Given the description of an element on the screen output the (x, y) to click on. 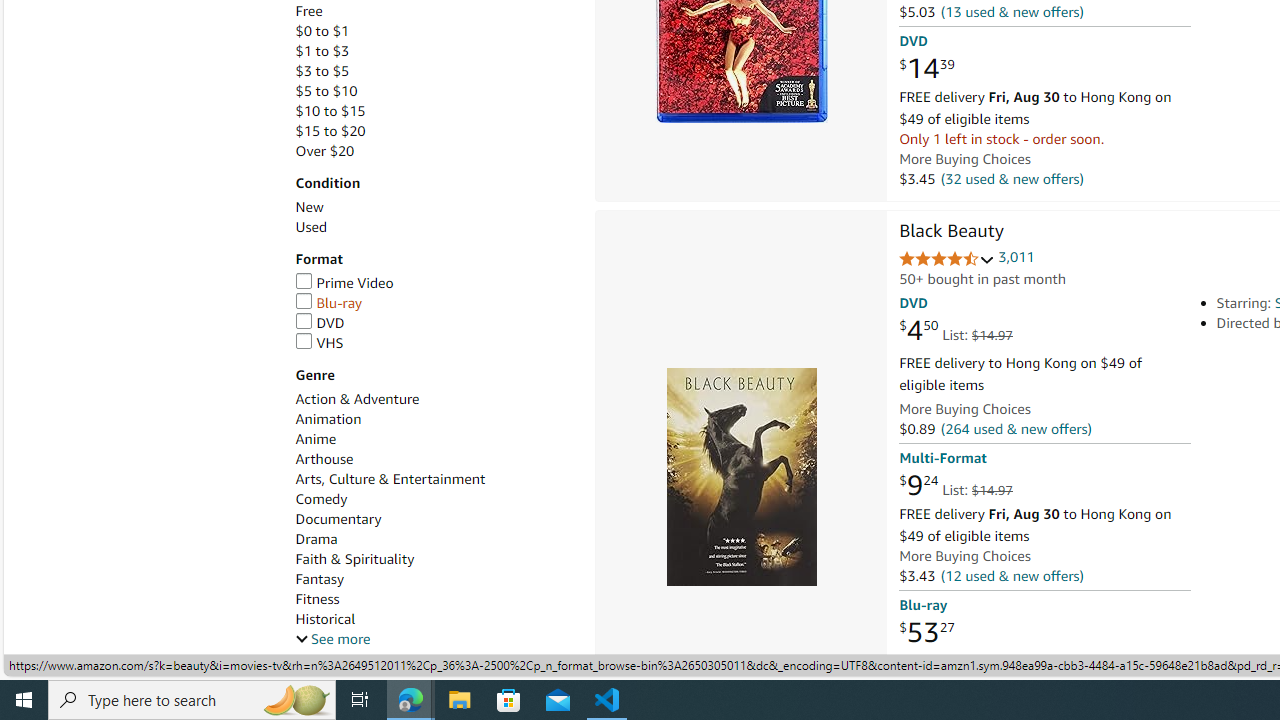
Faith & Spirituality (354, 559)
$10 to $15 (330, 111)
Arts, Culture & Entertainment (390, 479)
Black Beauty (740, 476)
DVD (319, 322)
Comedy (321, 499)
$53.27 (926, 632)
(13 used & new offers) (1011, 12)
Anime (315, 439)
$14.39 (926, 69)
Faith & Spirituality (434, 559)
DVD (434, 323)
VHS (319, 342)
